Given the description of an element on the screen output the (x, y) to click on. 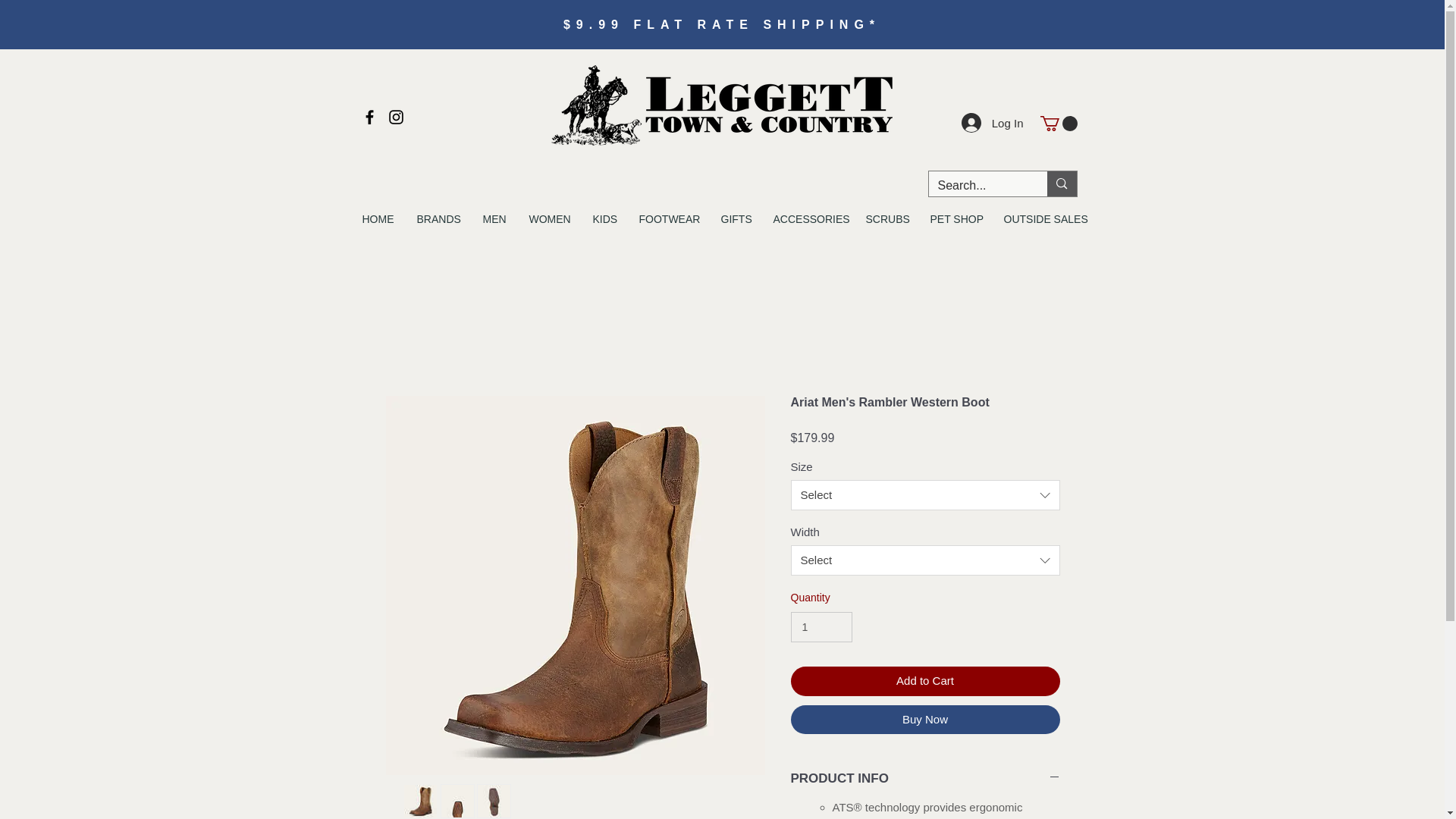
1 (820, 626)
BRANDS (437, 218)
GIFTS (735, 218)
Log In (991, 122)
HOME (377, 218)
